Given the description of an element on the screen output the (x, y) to click on. 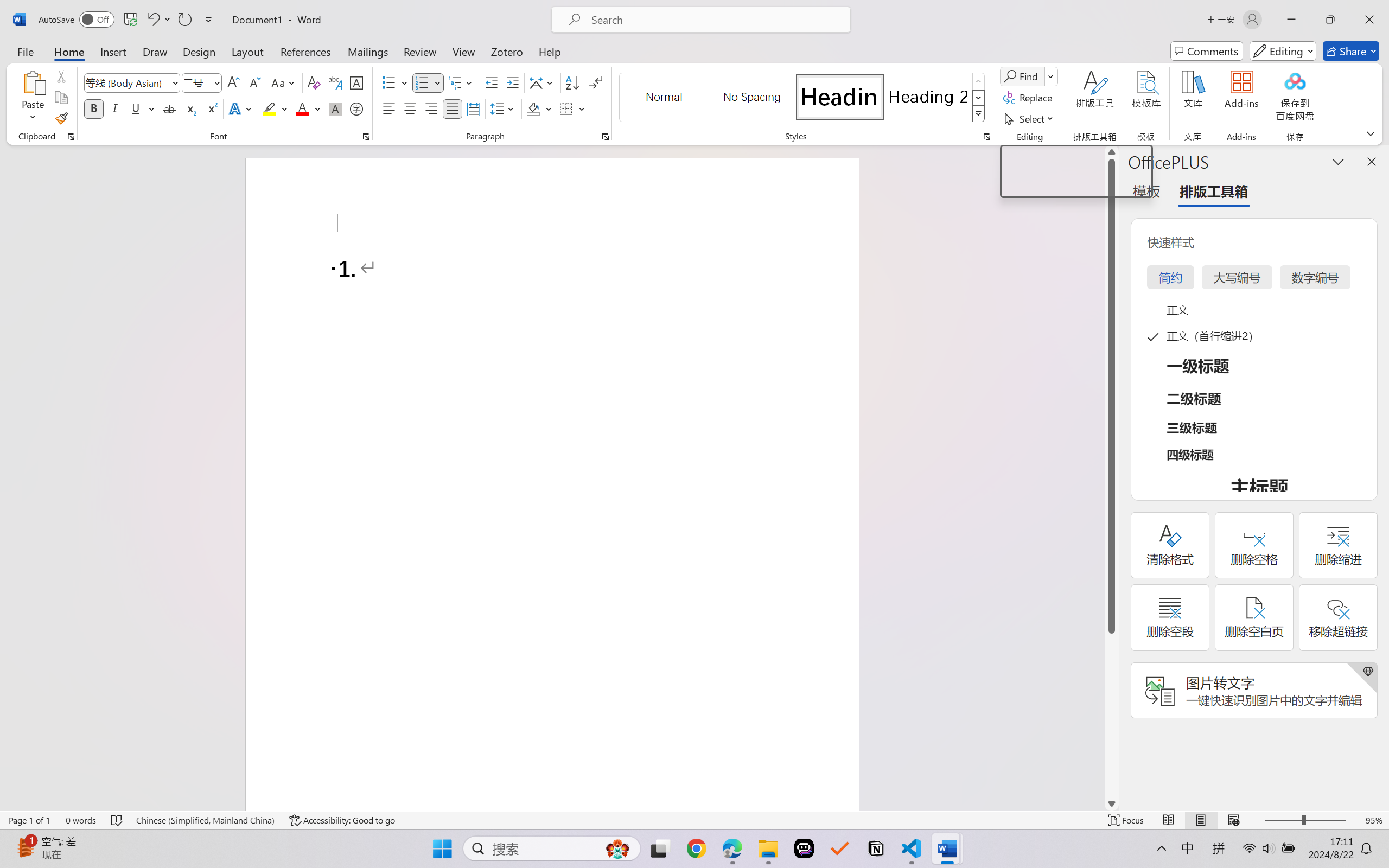
Undo Number Default (158, 19)
